Given the description of an element on the screen output the (x, y) to click on. 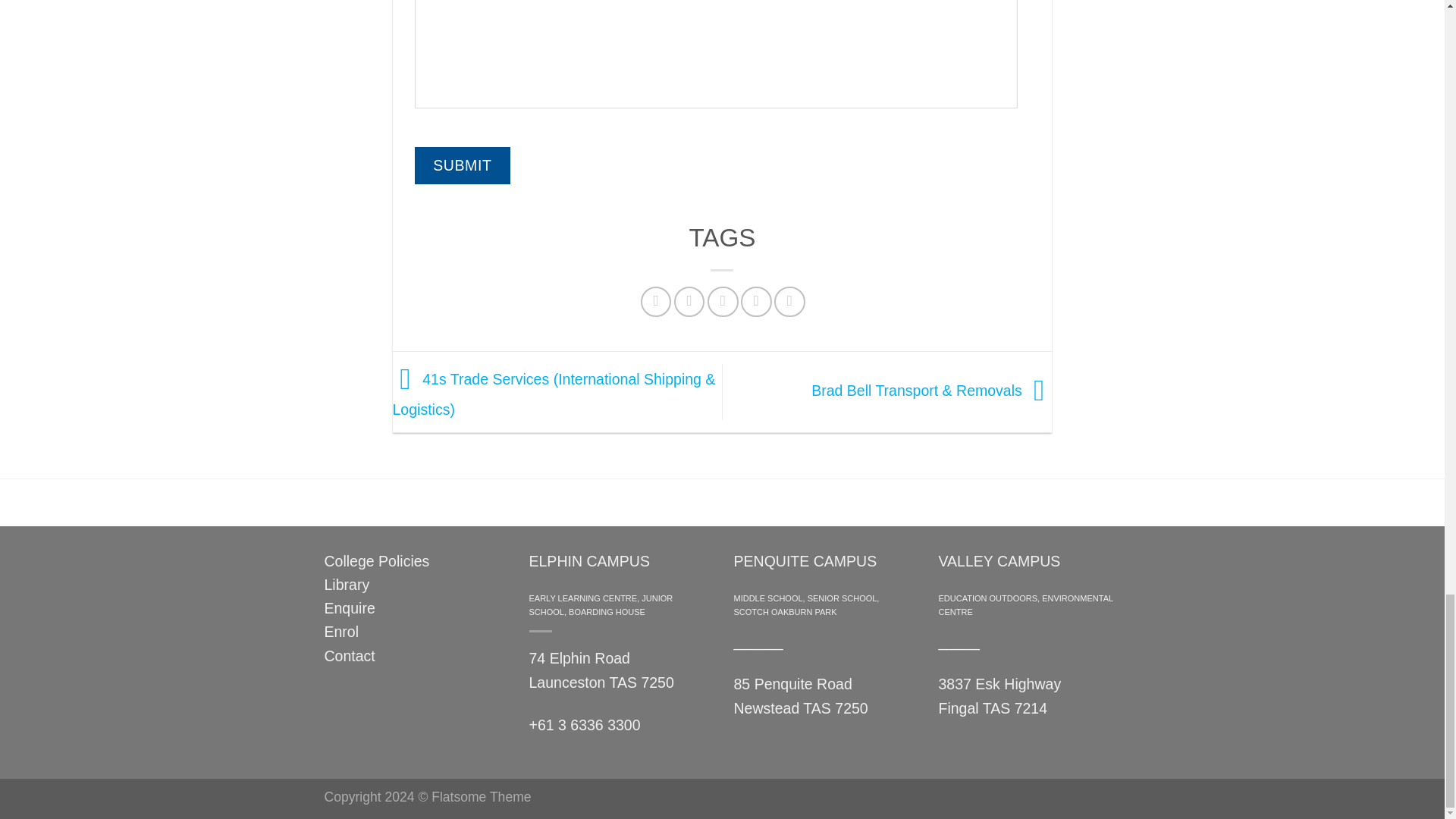
College Policies (376, 560)
Contact (349, 655)
Share on LinkedIn (789, 301)
Email to a Friend (722, 301)
Pin on Pinterest (756, 301)
Library (346, 584)
Enquire (349, 607)
Enrol (341, 631)
Submit (462, 165)
Share on Twitter (689, 301)
